Given the description of an element on the screen output the (x, y) to click on. 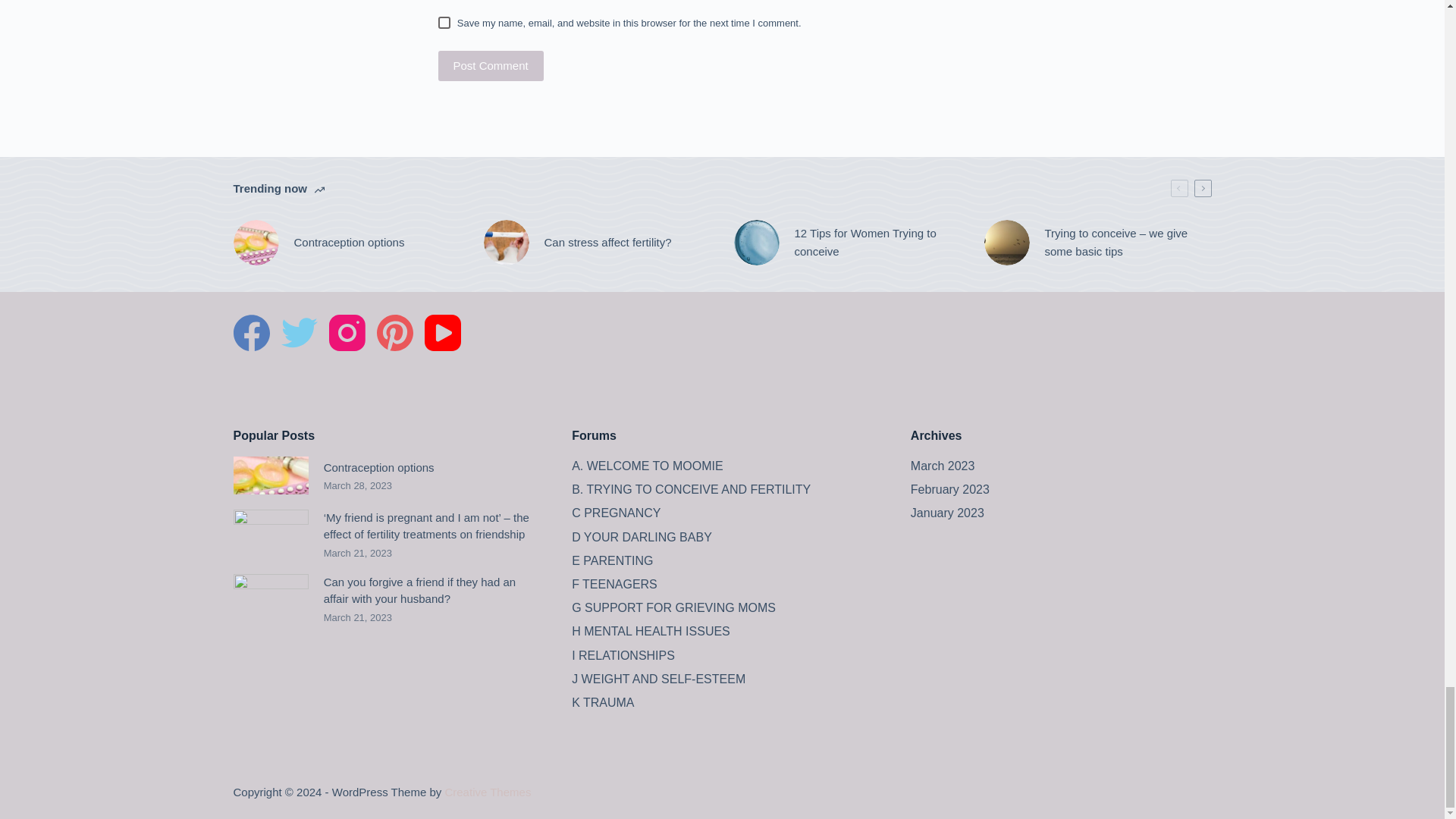
yes (443, 22)
